Given the description of an element on the screen output the (x, y) to click on. 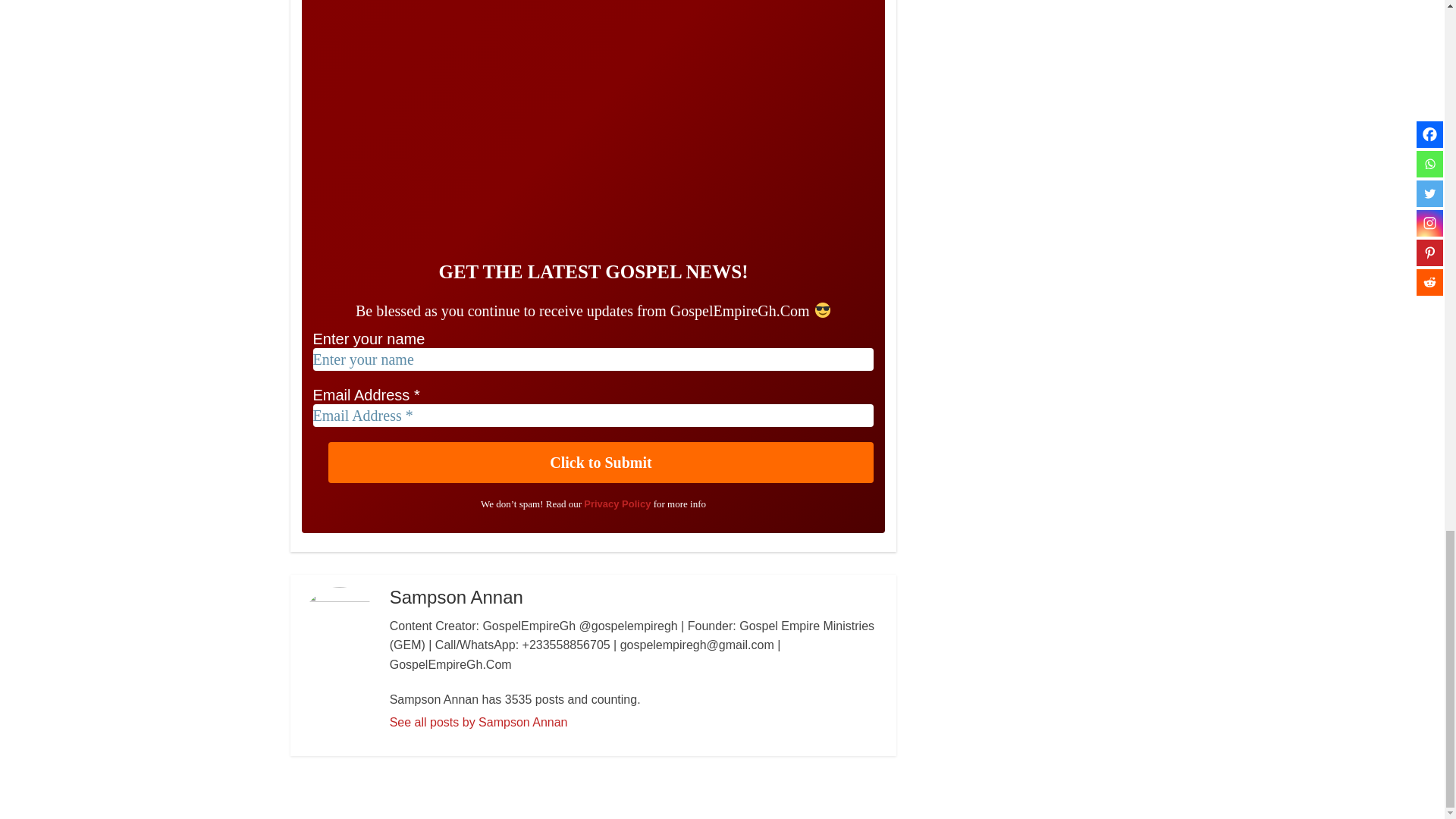
Email Address (593, 415)
Click to Submit (600, 462)
Click to Submit (600, 462)
Enter your name (593, 359)
